Given the description of an element on the screen output the (x, y) to click on. 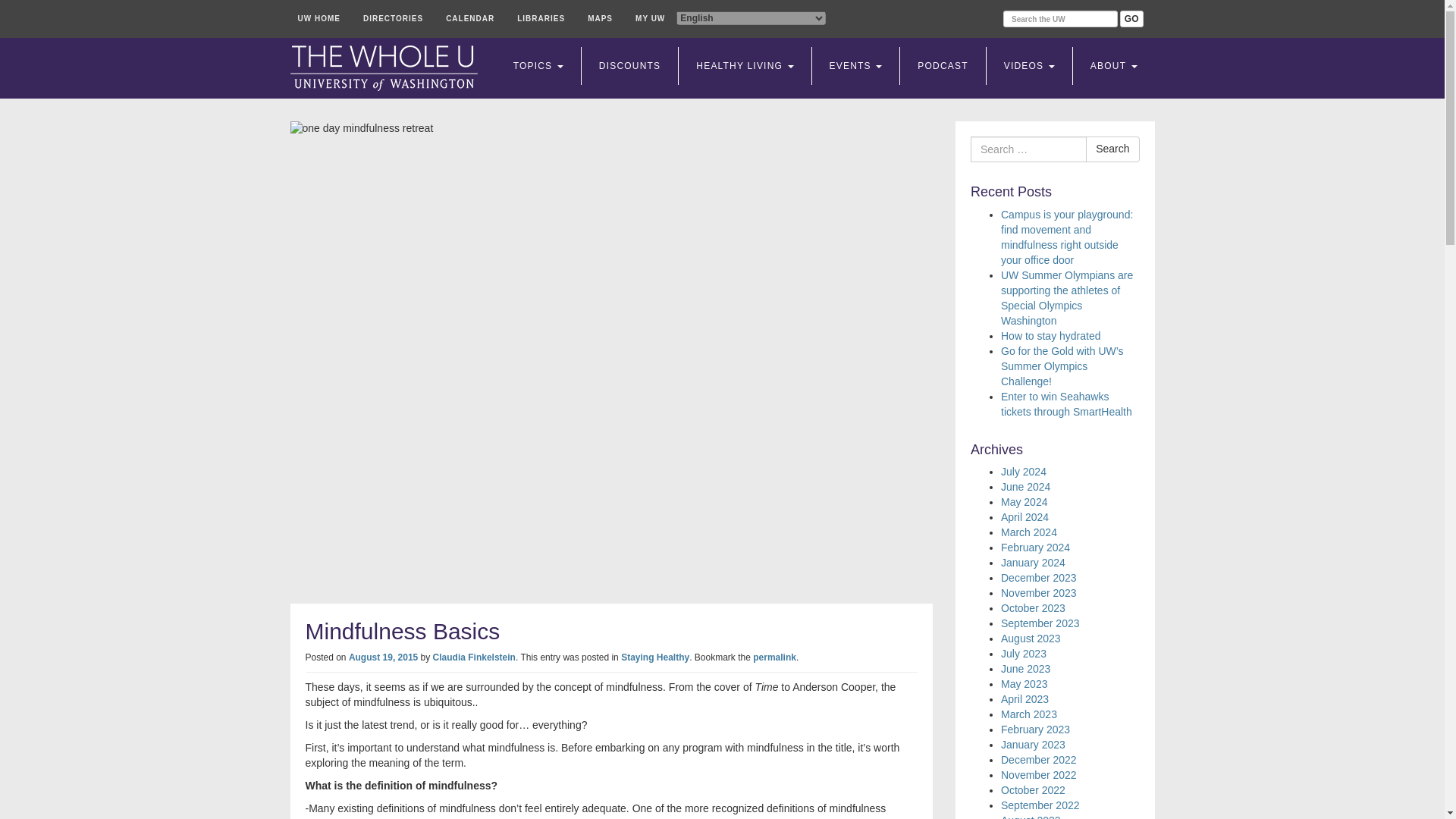
DIRECTORIES (392, 18)
DISCOUNTS (629, 65)
MAPS (599, 18)
UW HOME (318, 18)
CALENDAR (469, 18)
GO (1130, 18)
EVENTS (855, 65)
MY UW (649, 18)
TOPICS (538, 65)
HEALTHY LIVING (744, 65)
LIBRARIES (541, 18)
THE WHOLE U (383, 67)
